Given the description of an element on the screen output the (x, y) to click on. 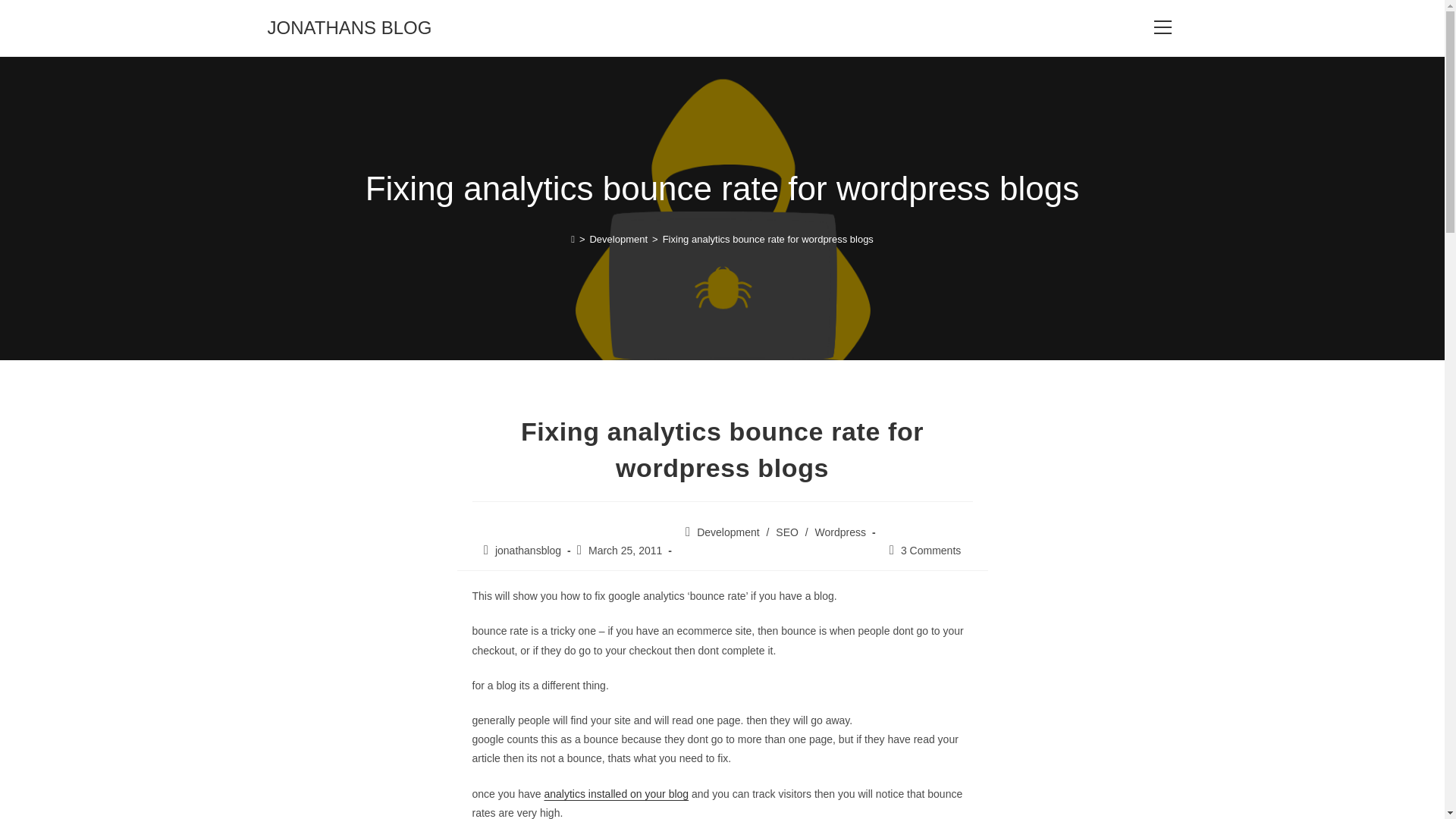
View website Menu (1162, 27)
Posts by jonathansblog (527, 550)
JONATHANS BLOG (348, 27)
